Given the description of an element on the screen output the (x, y) to click on. 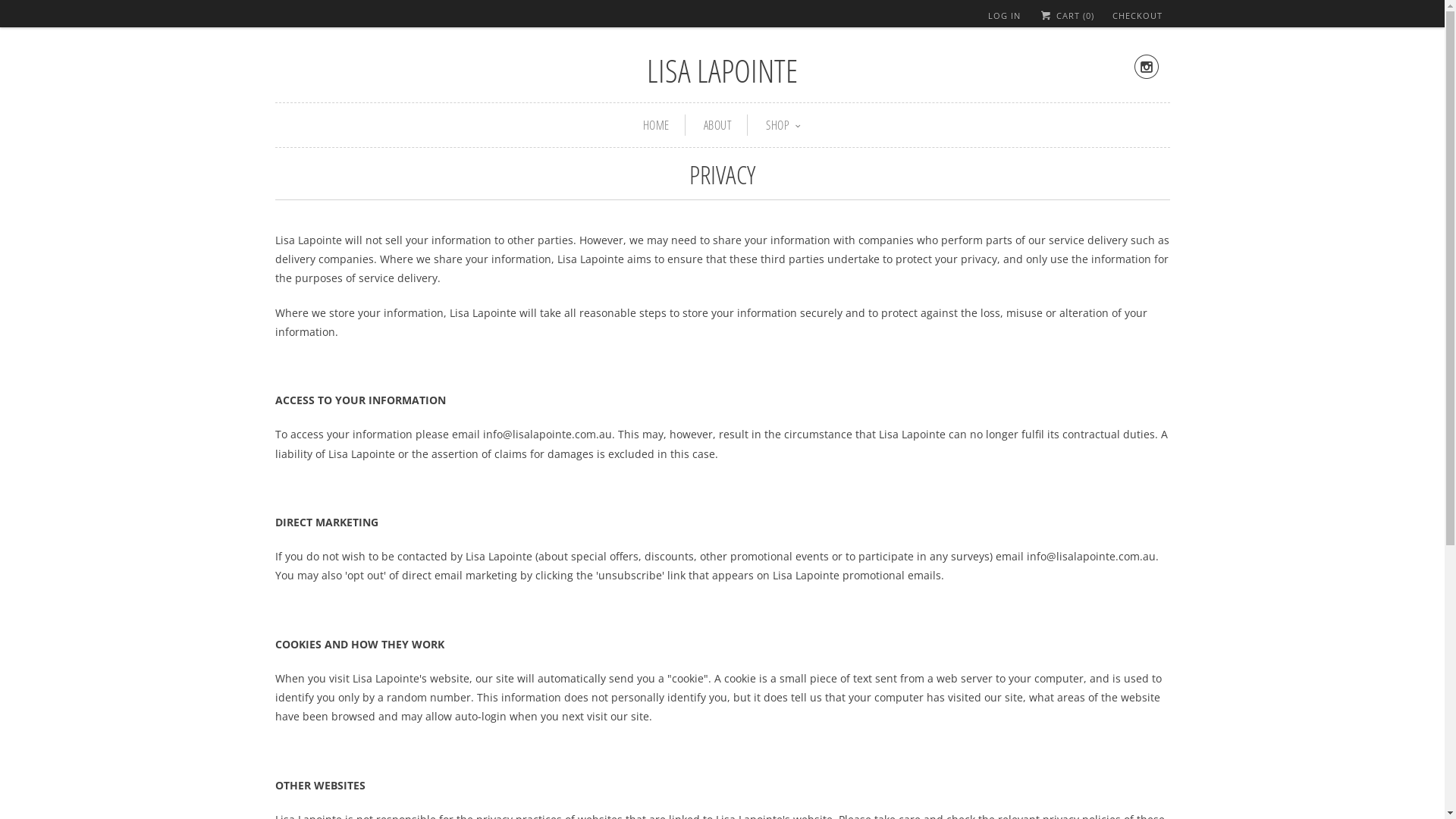
LISA LAPOINTE Element type: text (721, 70)
ABOUT Element type: text (717, 124)
CART (0) Element type: text (1065, 14)
LOG IN Element type: text (1004, 15)
CHECKOUT Element type: text (1136, 15)
SHOP Element type: text (783, 125)
HOME Element type: text (656, 124)
